Given the description of an element on the screen output the (x, y) to click on. 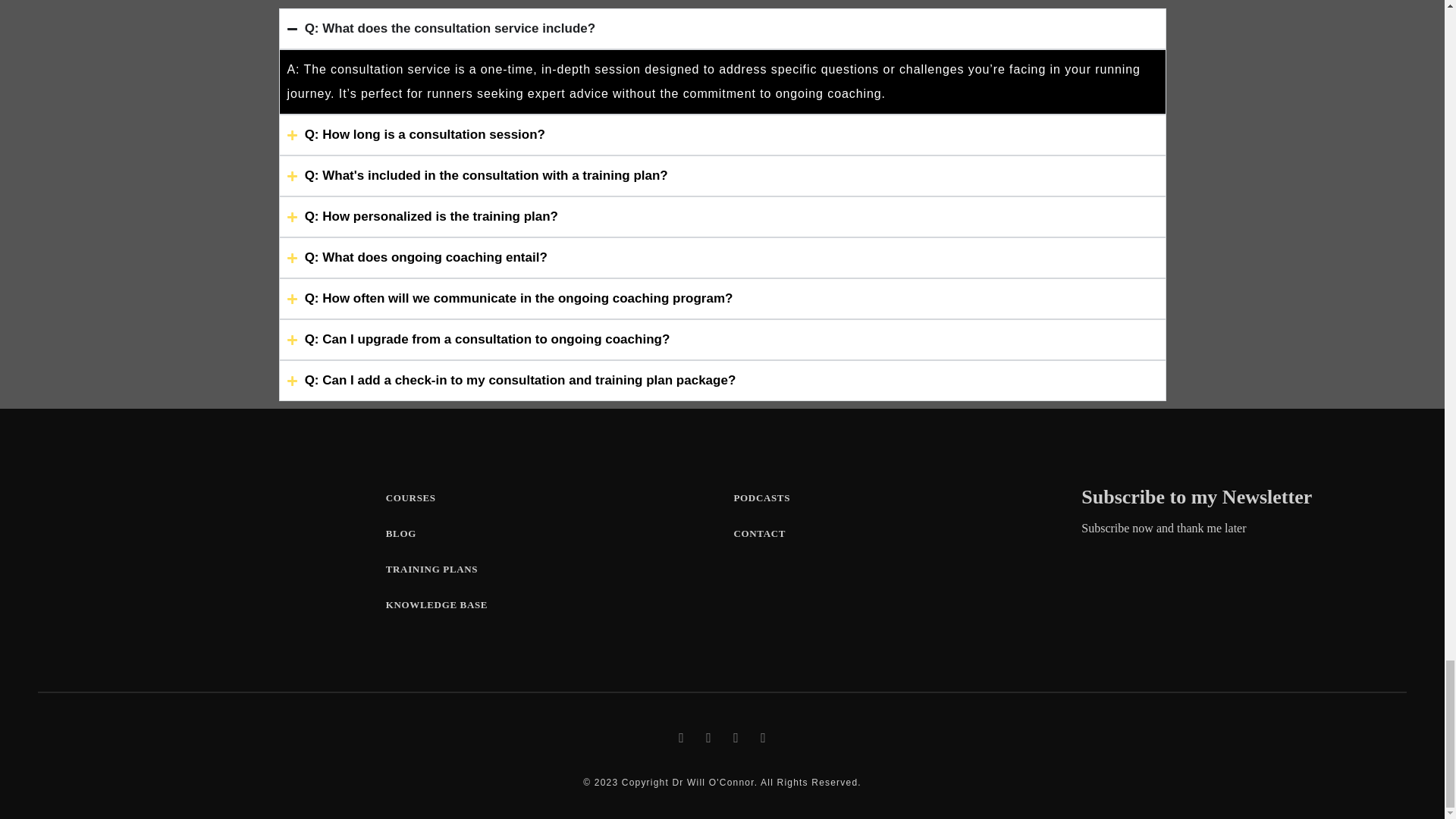
KNOWLEDGE BASE (436, 604)
CONTACT (759, 532)
COURSES (410, 497)
PODCASTS (761, 497)
BLOG (400, 532)
TRAINING PLANS (431, 568)
